Given the description of an element on the screen output the (x, y) to click on. 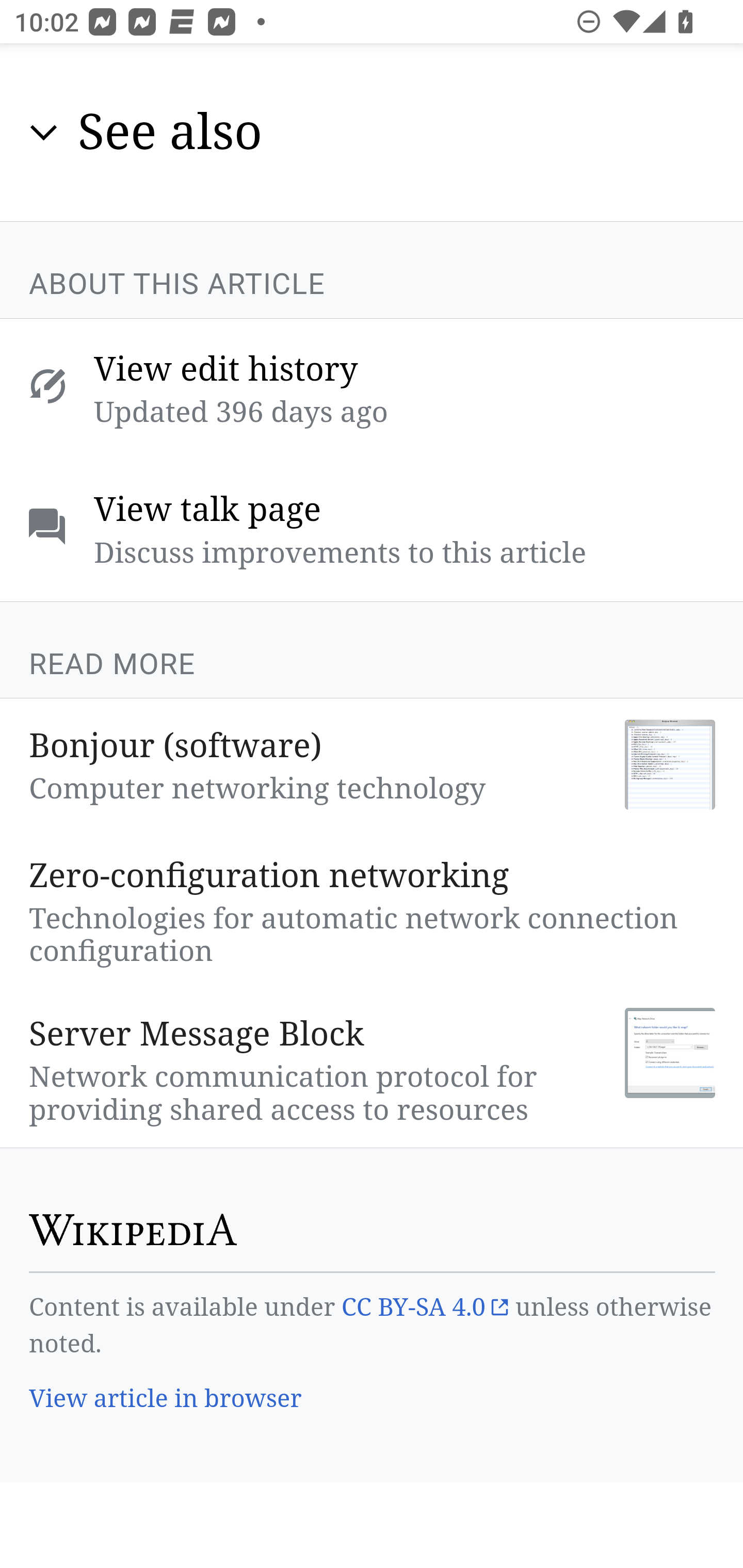
Expand section See also (372, 133)
Expand section (43, 132)
CC BY-SA 4.0 (423, 1307)
View article in browser (165, 1399)
